Given the description of an element on the screen output the (x, y) to click on. 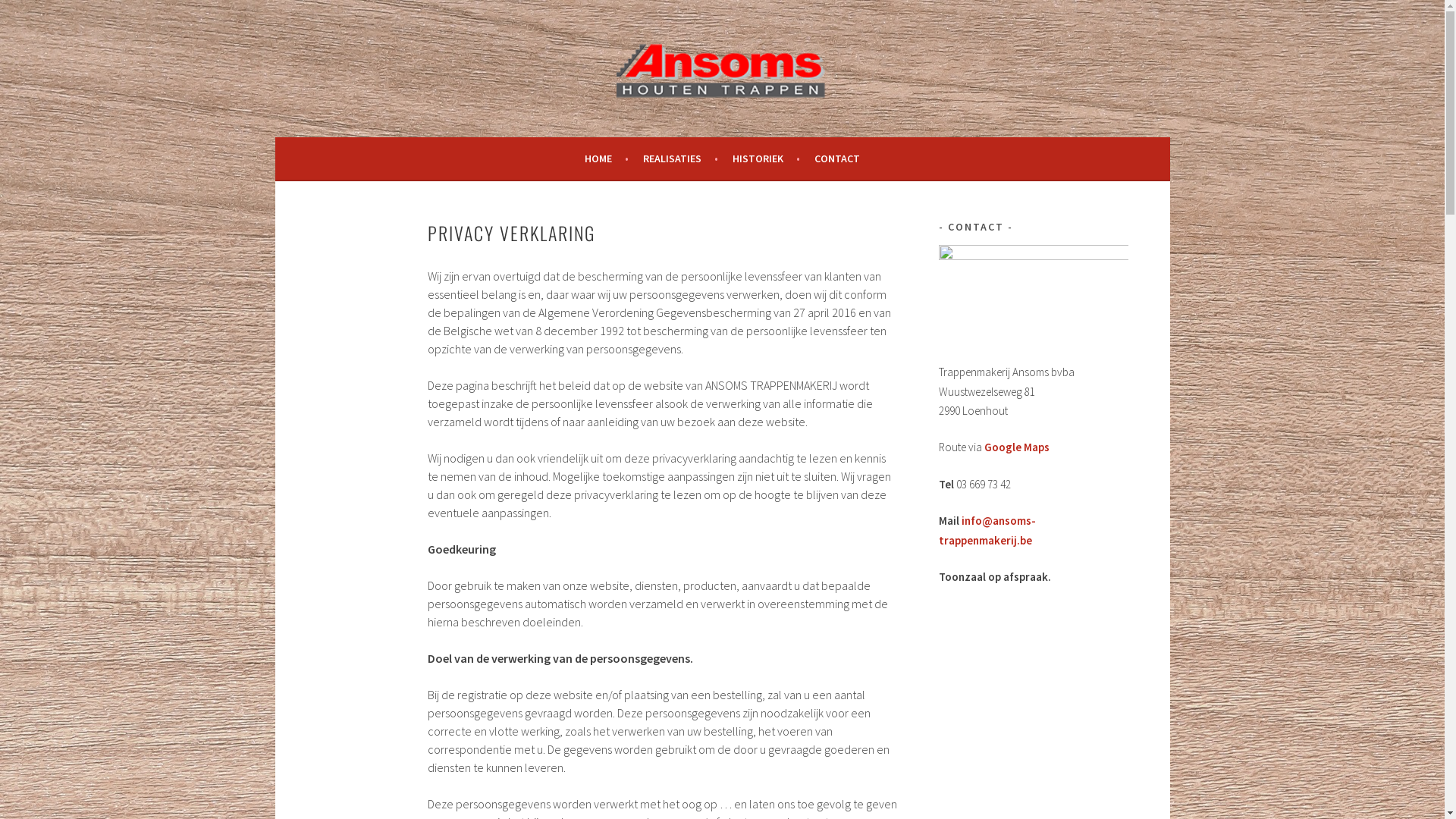
info@ansoms-trappenmakerij.be Element type: text (986, 530)
Spring naar inhoud Element type: text (274, 0)
HOME Element type: text (606, 158)
REALISATIES Element type: text (680, 158)
CONTACT Element type: text (836, 158)
HISTORIEK Element type: text (766, 158)
Google Maps Element type: text (1016, 446)
Ansoms Trappenmakerij Element type: hover (721, 100)
